Given the description of an element on the screen output the (x, y) to click on. 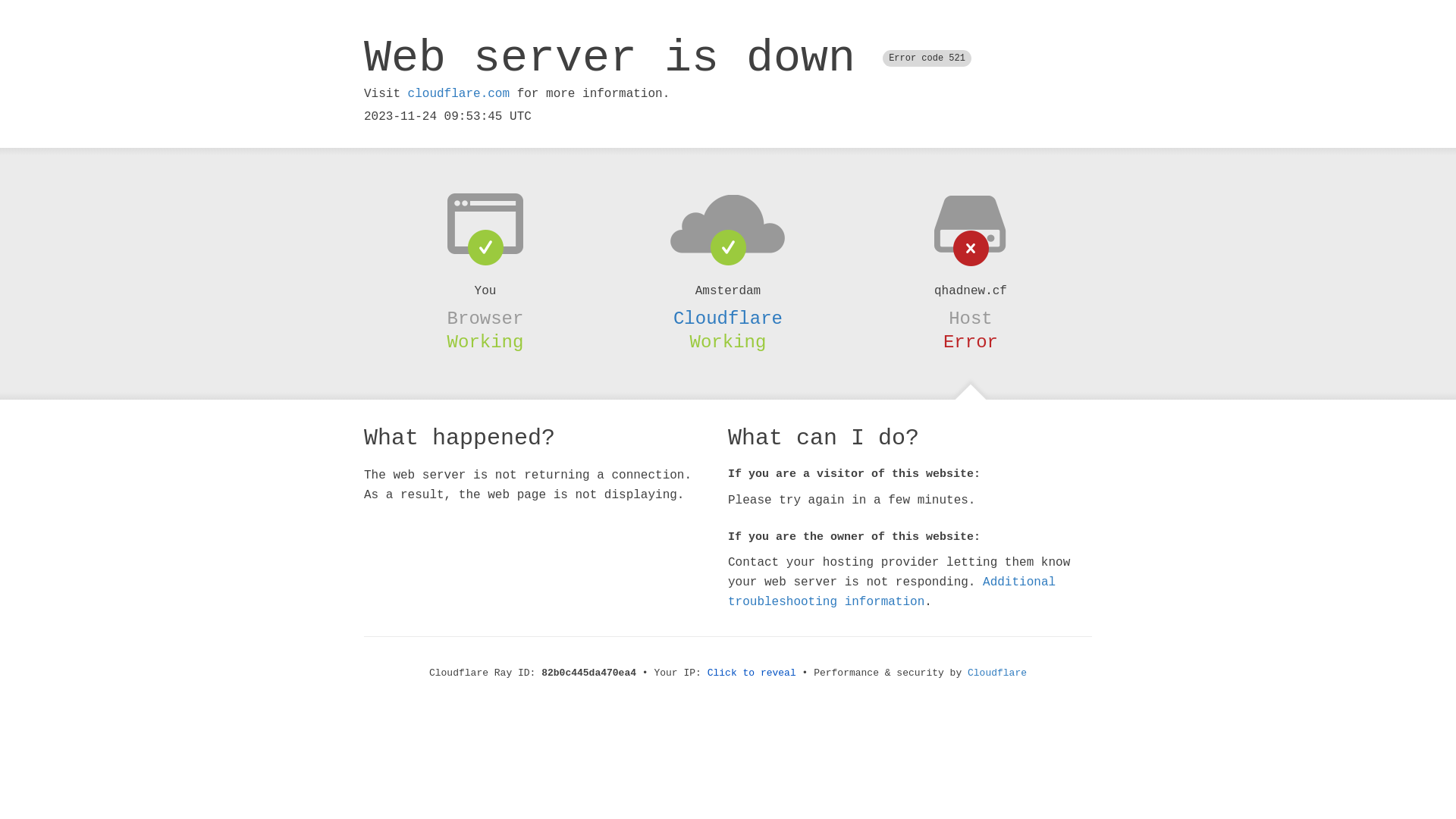
cloudflare.com Element type: text (458, 93)
Click to reveal Element type: text (751, 672)
Cloudflare Element type: text (727, 318)
Cloudflare Element type: text (996, 672)
Additional troubleshooting information Element type: text (891, 591)
